Given the description of an element on the screen output the (x, y) to click on. 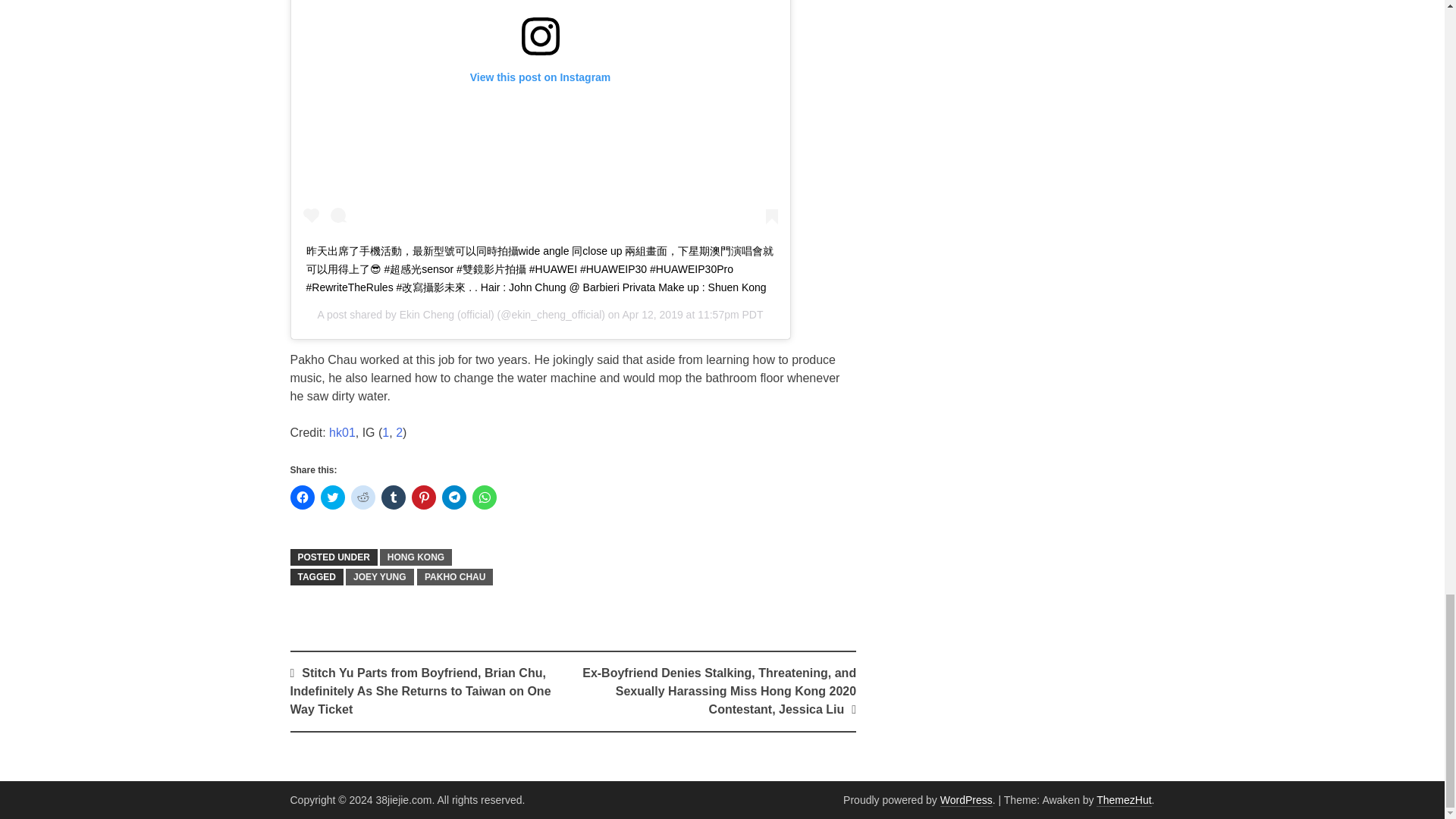
Click to share on Telegram (453, 497)
Click to share on WhatsApp (483, 497)
Click to share on Tumblr (392, 497)
Click to share on Pinterest (422, 497)
Click to share on Twitter (331, 497)
View this post on Instagram (539, 115)
Click to share on Reddit (362, 497)
WordPress (966, 799)
Click to share on Facebook (301, 497)
